Given the description of an element on the screen output the (x, y) to click on. 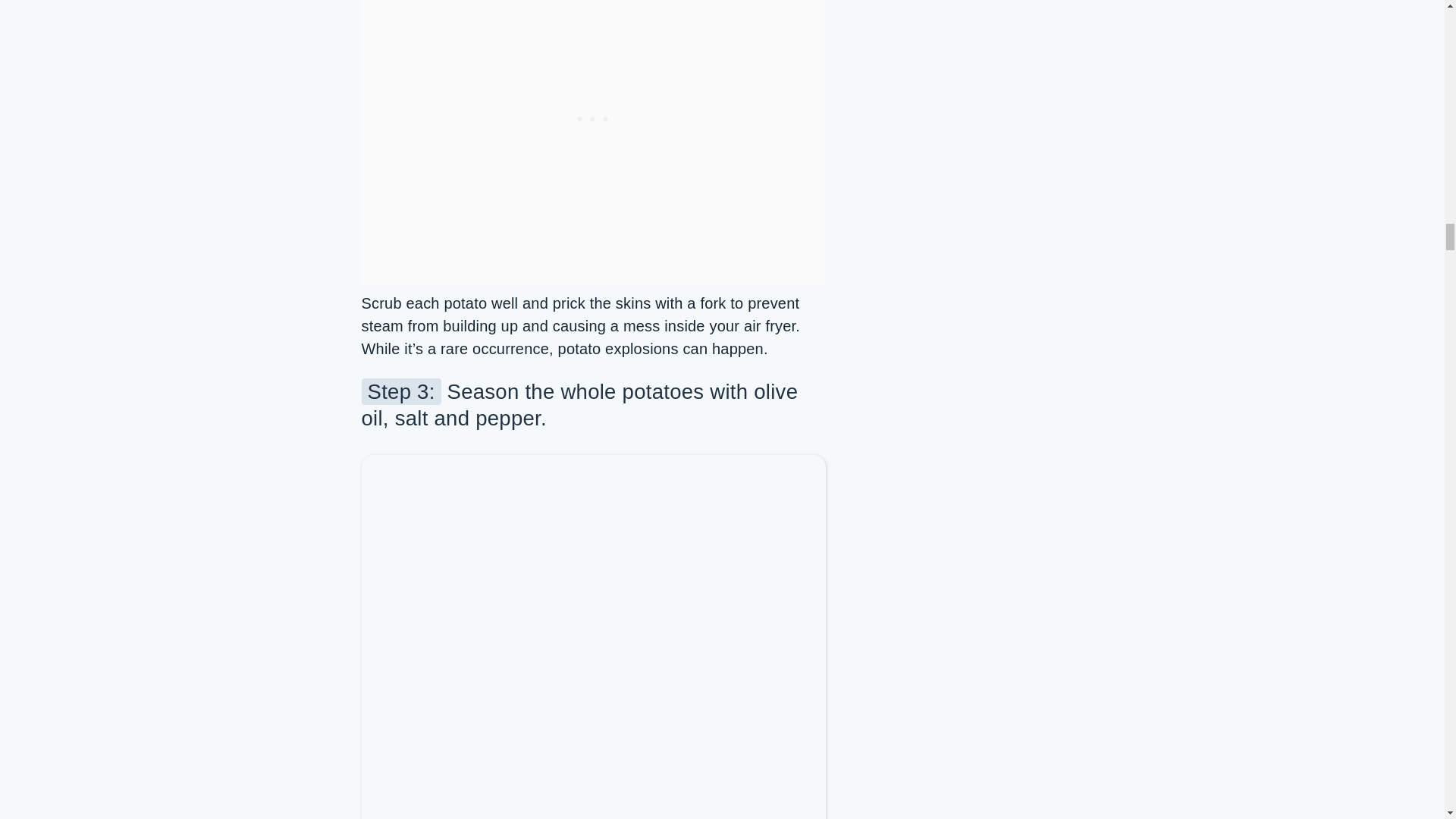
Seasoning whole potato with olive oil, salt and pepper (593, 691)
